Given the description of an element on the screen output the (x, y) to click on. 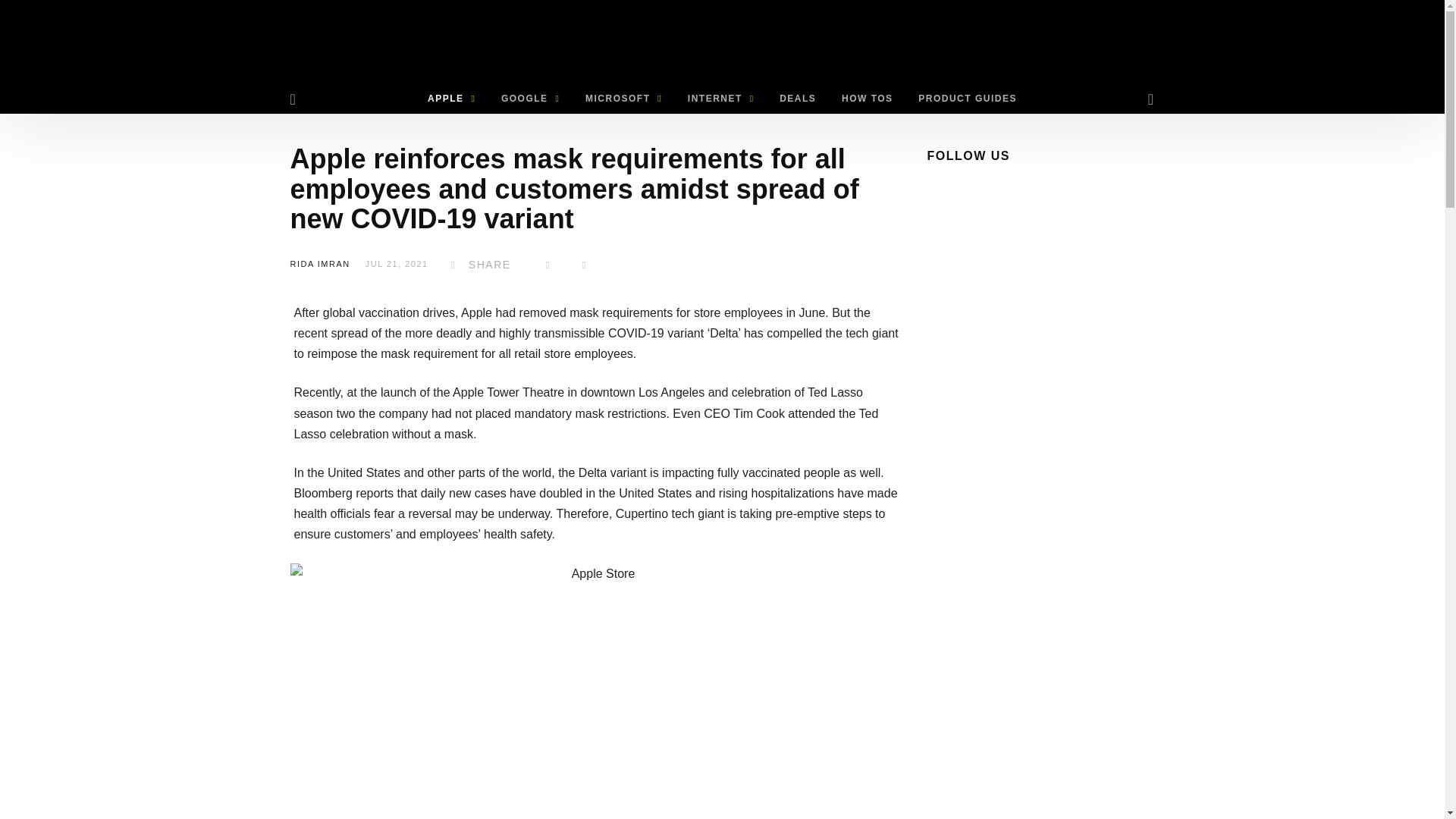
MICROSOFT (622, 98)
SHARE (477, 264)
PRODUCT GUIDES (967, 98)
More (584, 264)
Share on Twitter (547, 264)
HOW TOS (866, 98)
GOOGLE (529, 98)
INTERNET (721, 98)
Posts by Rida Imran (319, 263)
DEALS (797, 98)
